Given the description of an element on the screen output the (x, y) to click on. 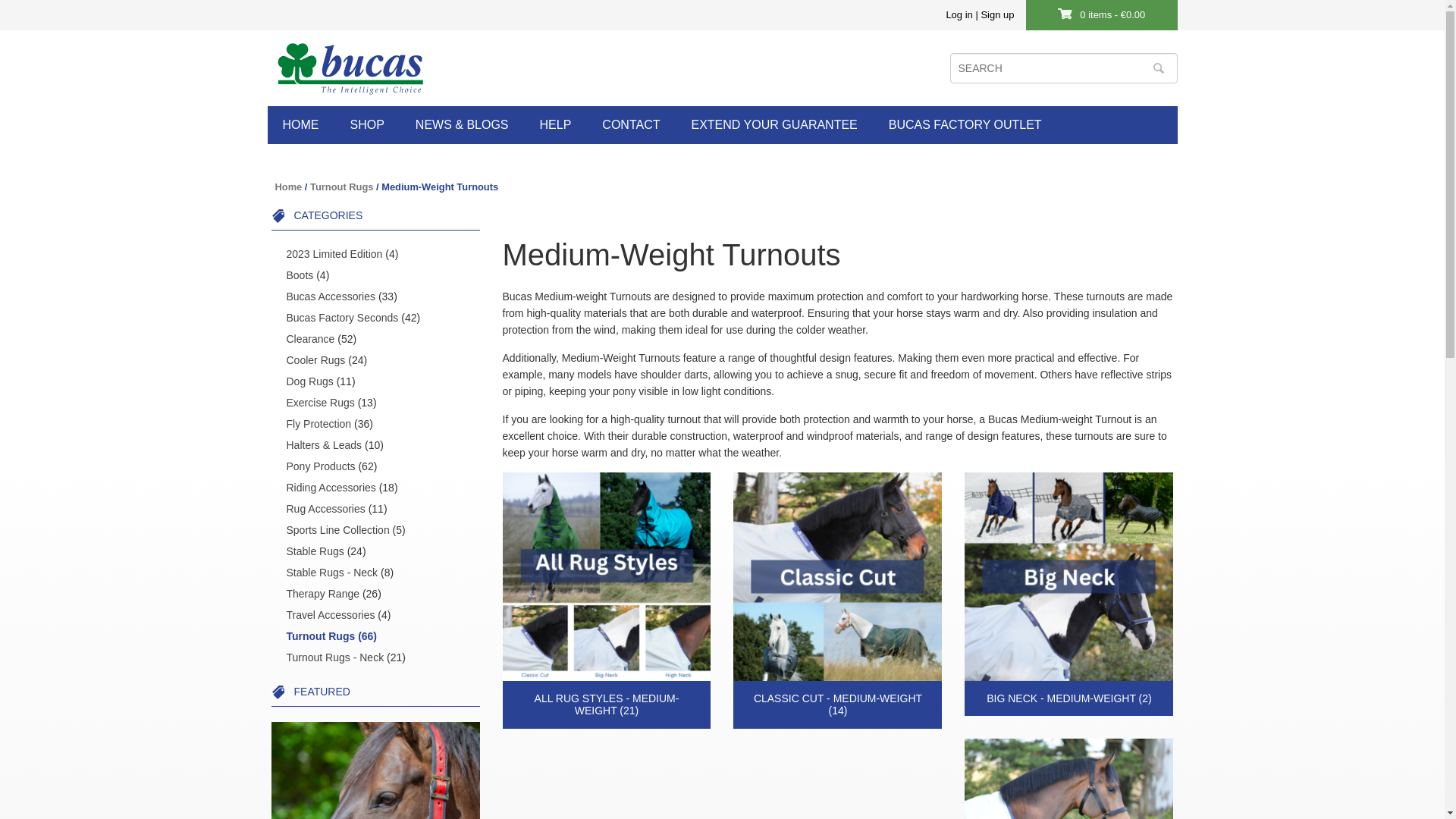
SHOP (366, 125)
Bucas Factory Seconds (342, 317)
BUCAS FACTORY OUTLET (965, 125)
HELP (555, 125)
Bucas (349, 67)
HOME (299, 125)
2023 Limited Edition (334, 253)
View your shopping cart (1112, 14)
CONTACT (630, 125)
Bucas Accessories (330, 296)
